Given the description of an element on the screen output the (x, y) to click on. 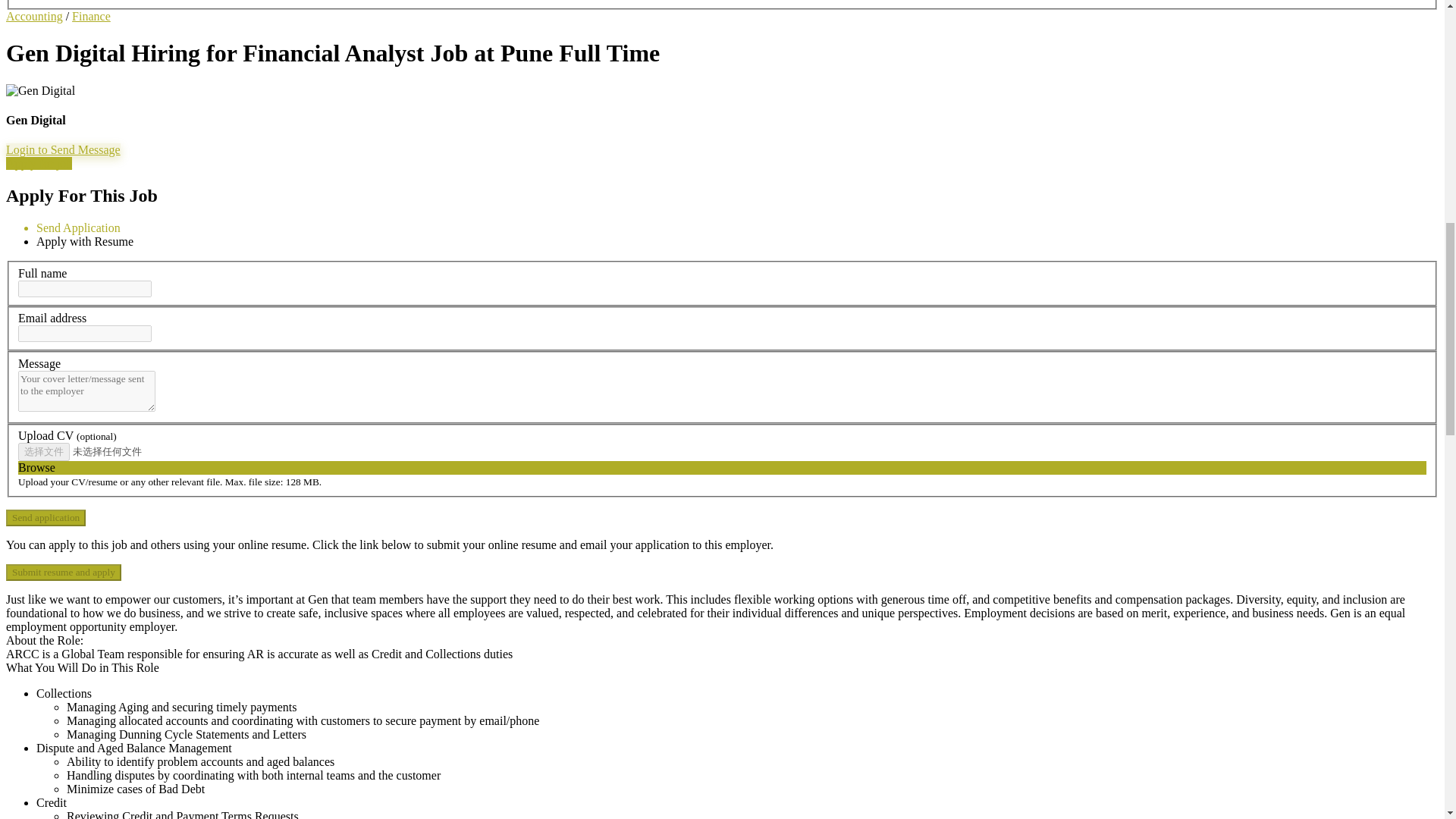
Apply for job (38, 163)
Submit resume and apply (62, 572)
Login to Send Message (62, 149)
Send application (45, 517)
Finance (90, 15)
Send application (45, 517)
Accounting (33, 15)
Submit resume and apply (62, 572)
